Given the description of an element on the screen output the (x, y) to click on. 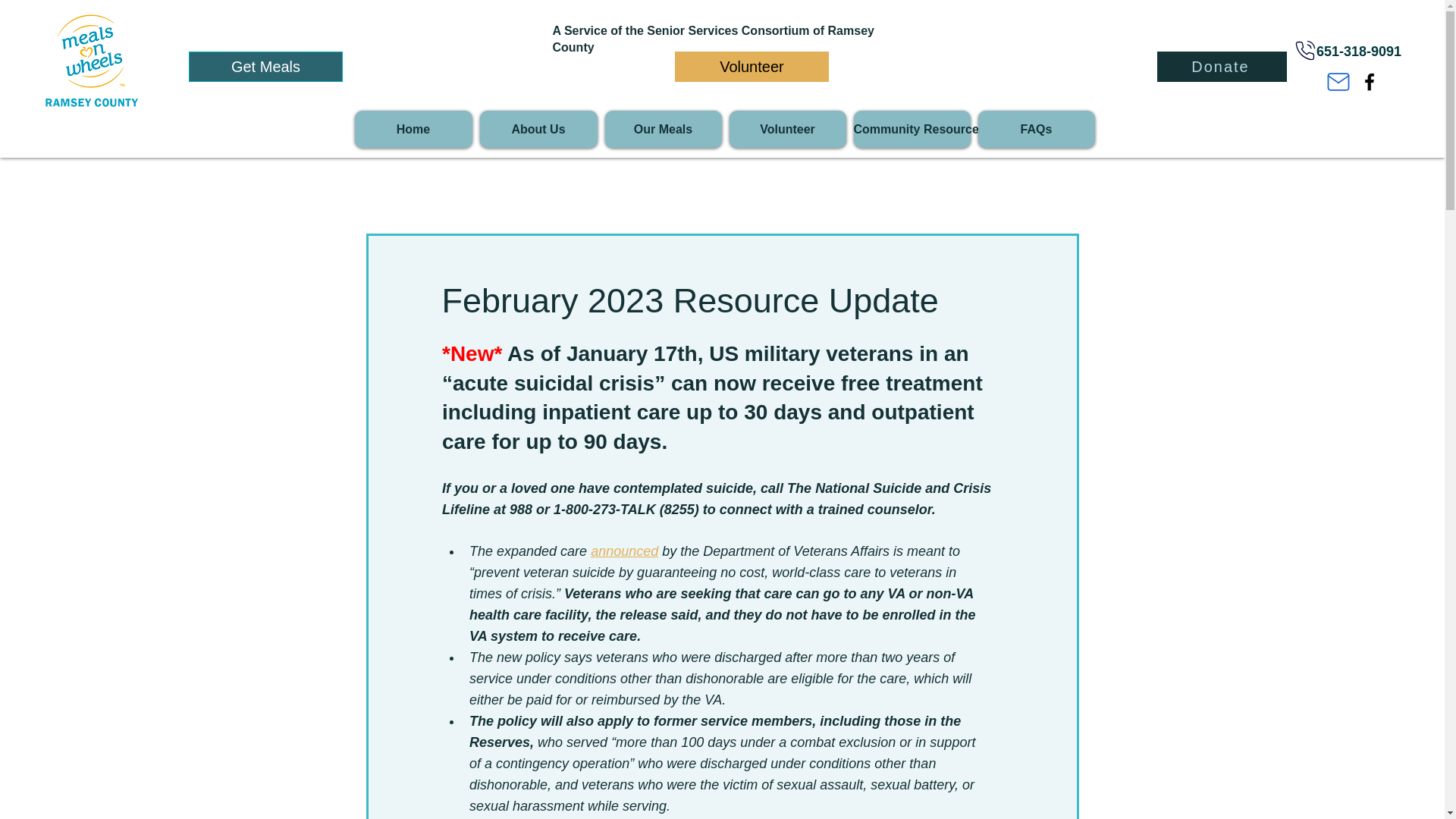
FAQs (1036, 129)
About Us (537, 129)
Donate (1222, 66)
Our Meals (663, 129)
Volunteer (787, 129)
Volunteer (751, 66)
Home (413, 129)
651-318-9091 (1358, 51)
announced (624, 550)
Get Meals (265, 66)
